Given the description of an element on the screen output the (x, y) to click on. 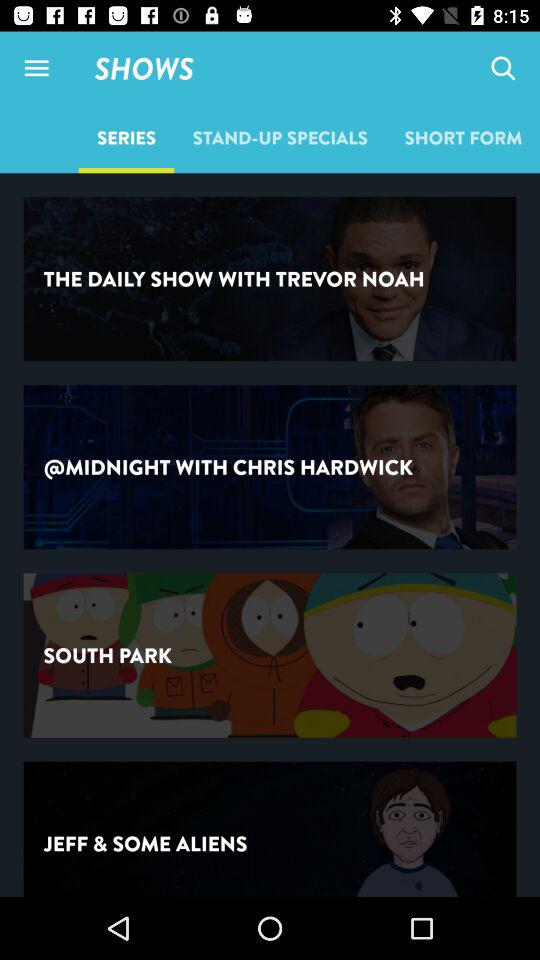
turn off the item below the shows (280, 137)
